Given the description of an element on the screen output the (x, y) to click on. 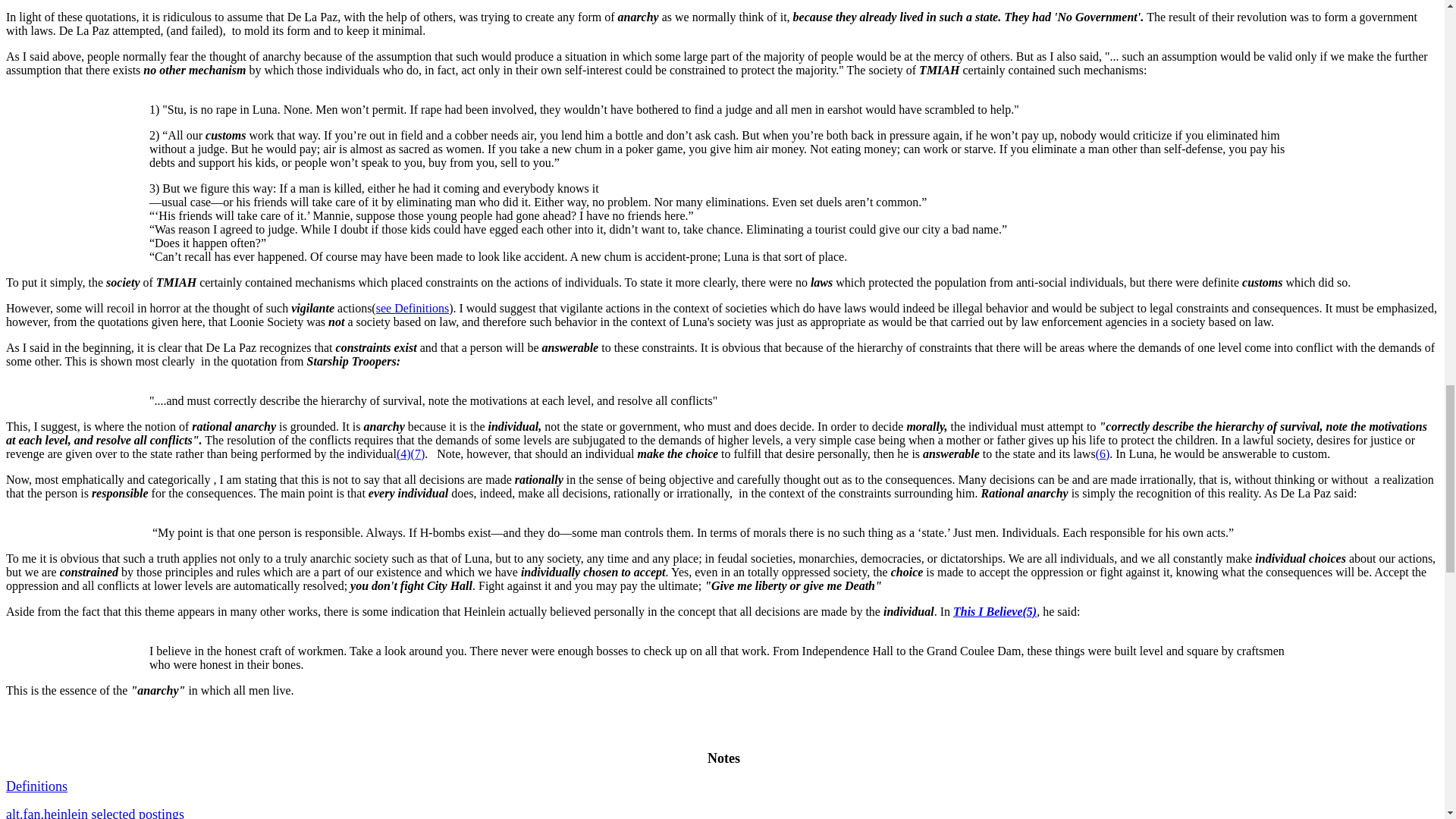
alt.fan.heinlein selected postings (94, 812)
see Definitions (411, 308)
Definitions (35, 785)
